Given the description of an element on the screen output the (x, y) to click on. 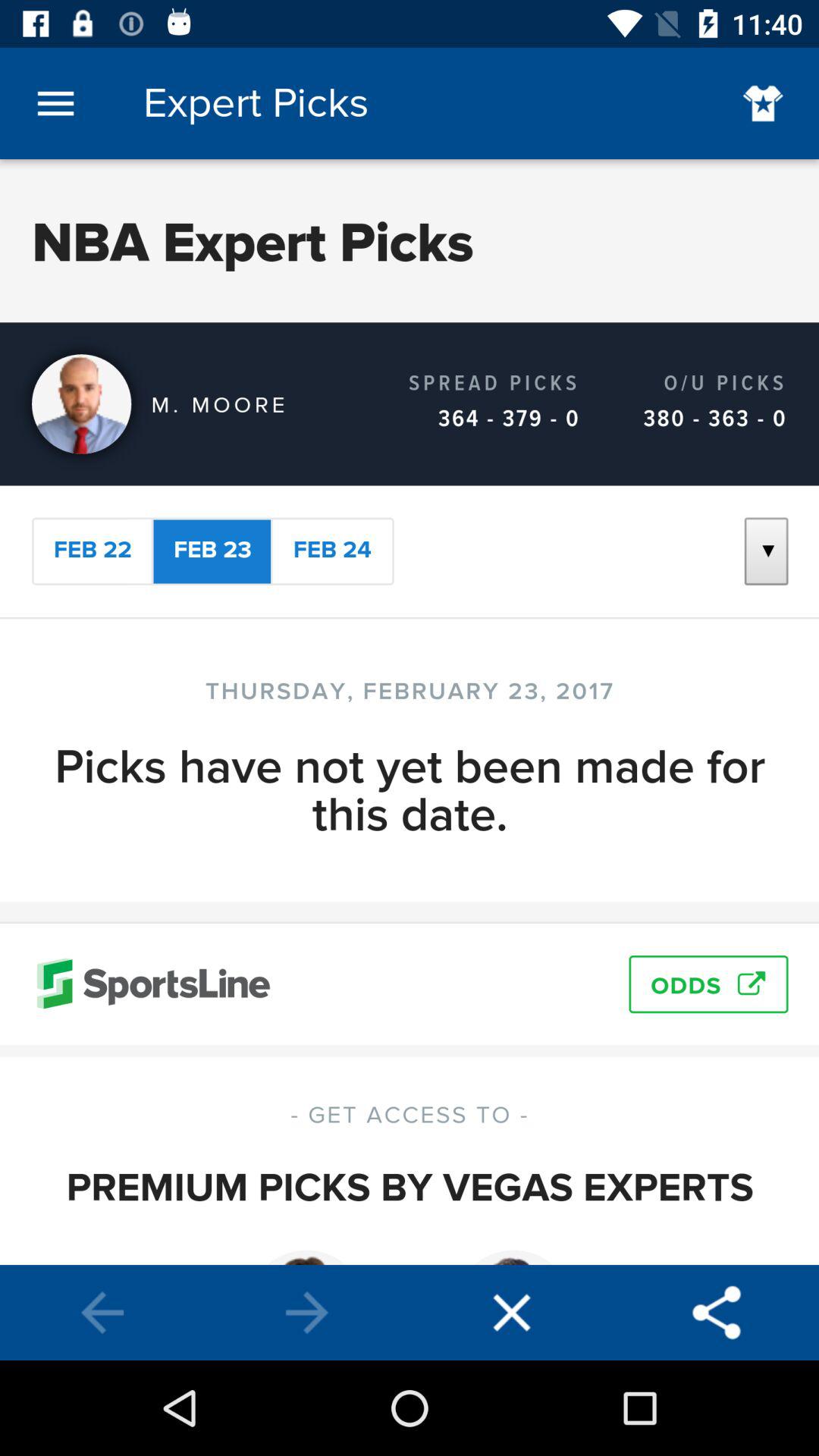
to close the ui bar (511, 1312)
